Given the description of an element on the screen output the (x, y) to click on. 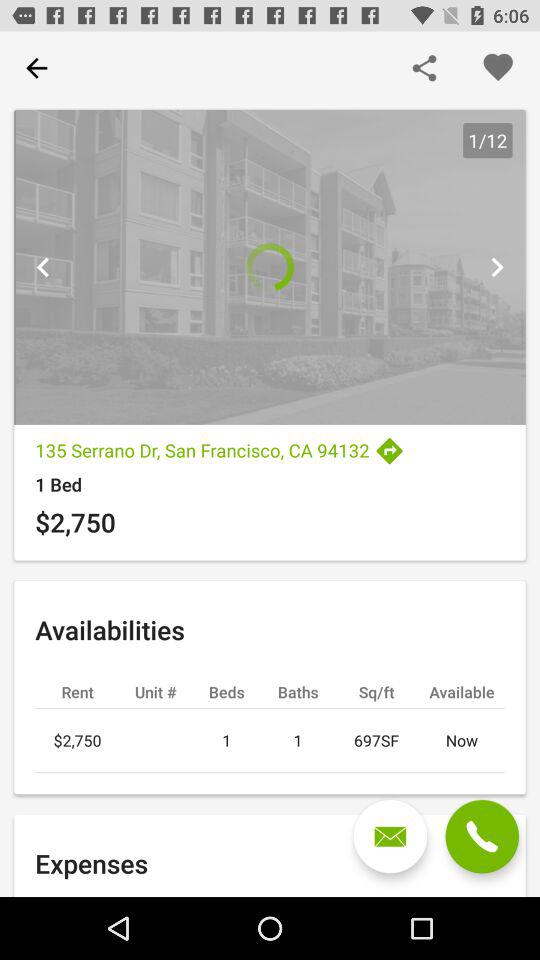
previous photo button (43, 267)
